Given the description of an element on the screen output the (x, y) to click on. 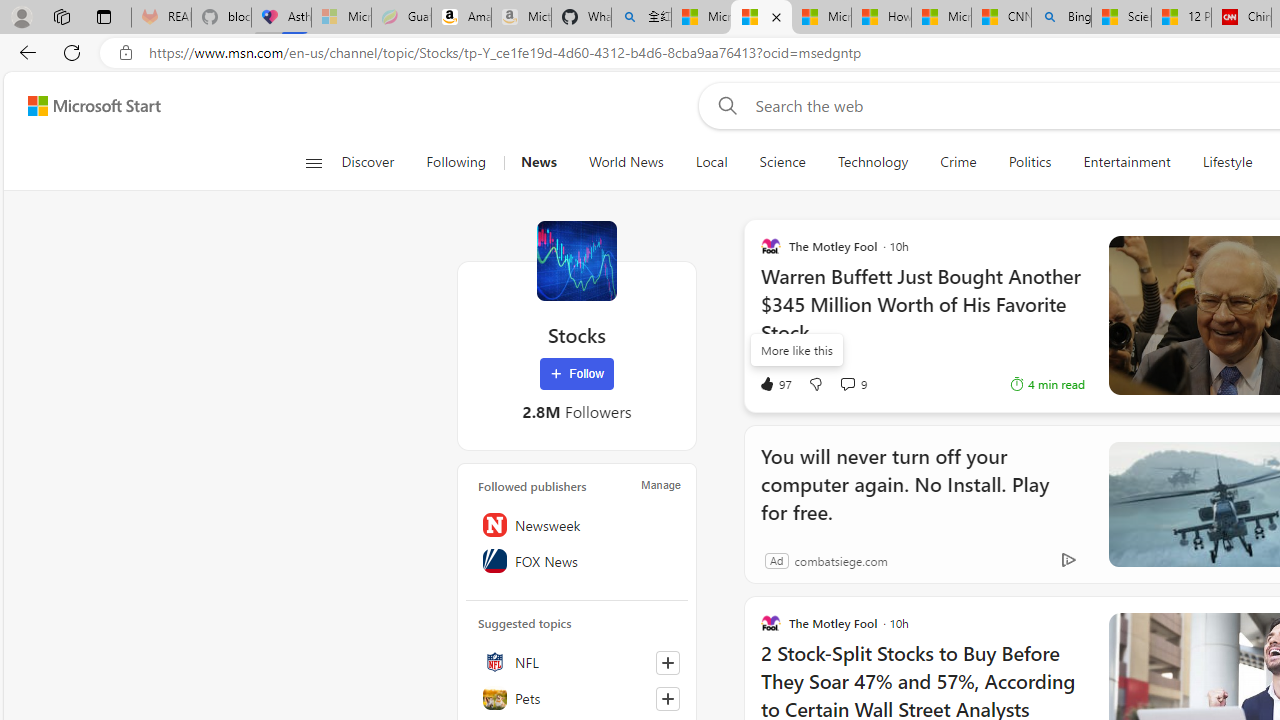
Newsweek (577, 525)
Pets (577, 697)
FOX News (577, 561)
